Given the description of an element on the screen output the (x, y) to click on. 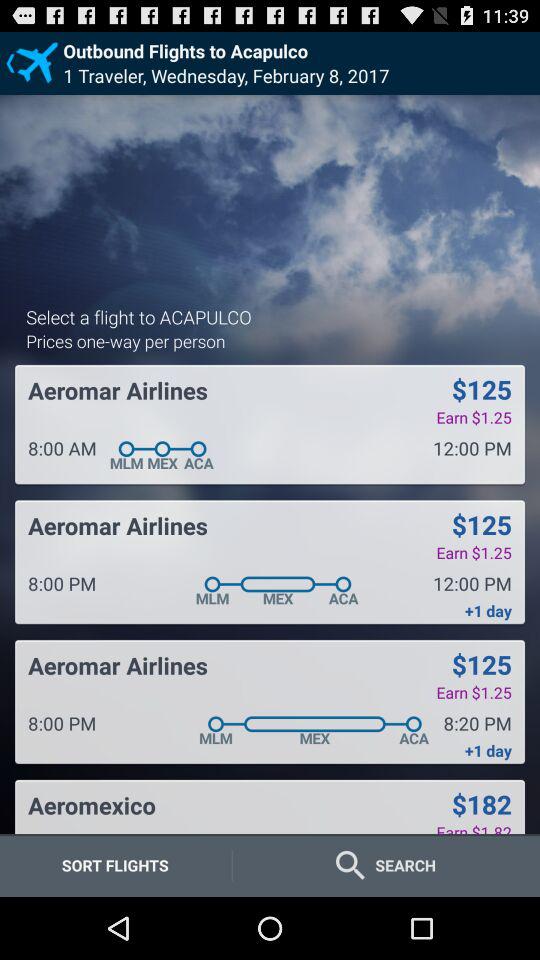
open the app next to aeromexico icon (481, 803)
